Given the description of an element on the screen output the (x, y) to click on. 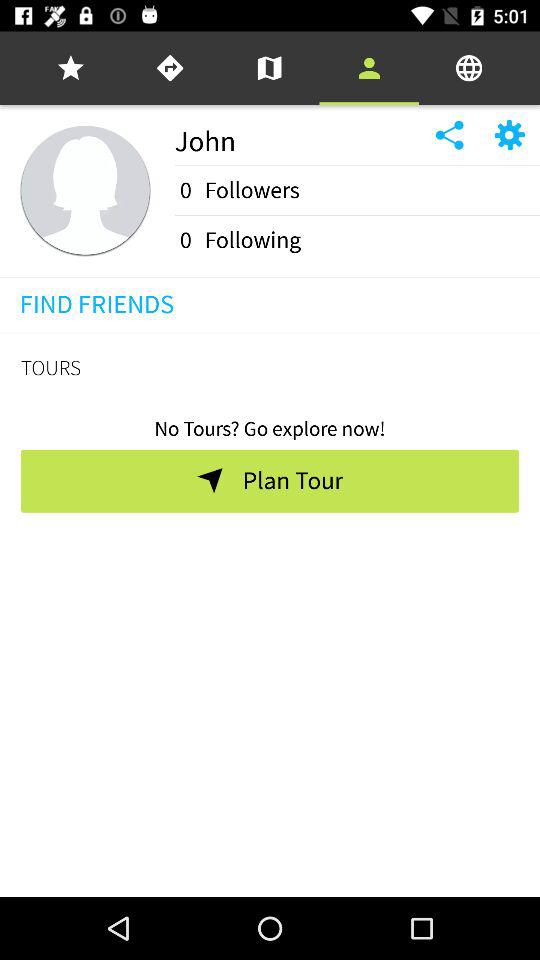
select the icon above find friends icon (270, 276)
